Given the description of an element on the screen output the (x, y) to click on. 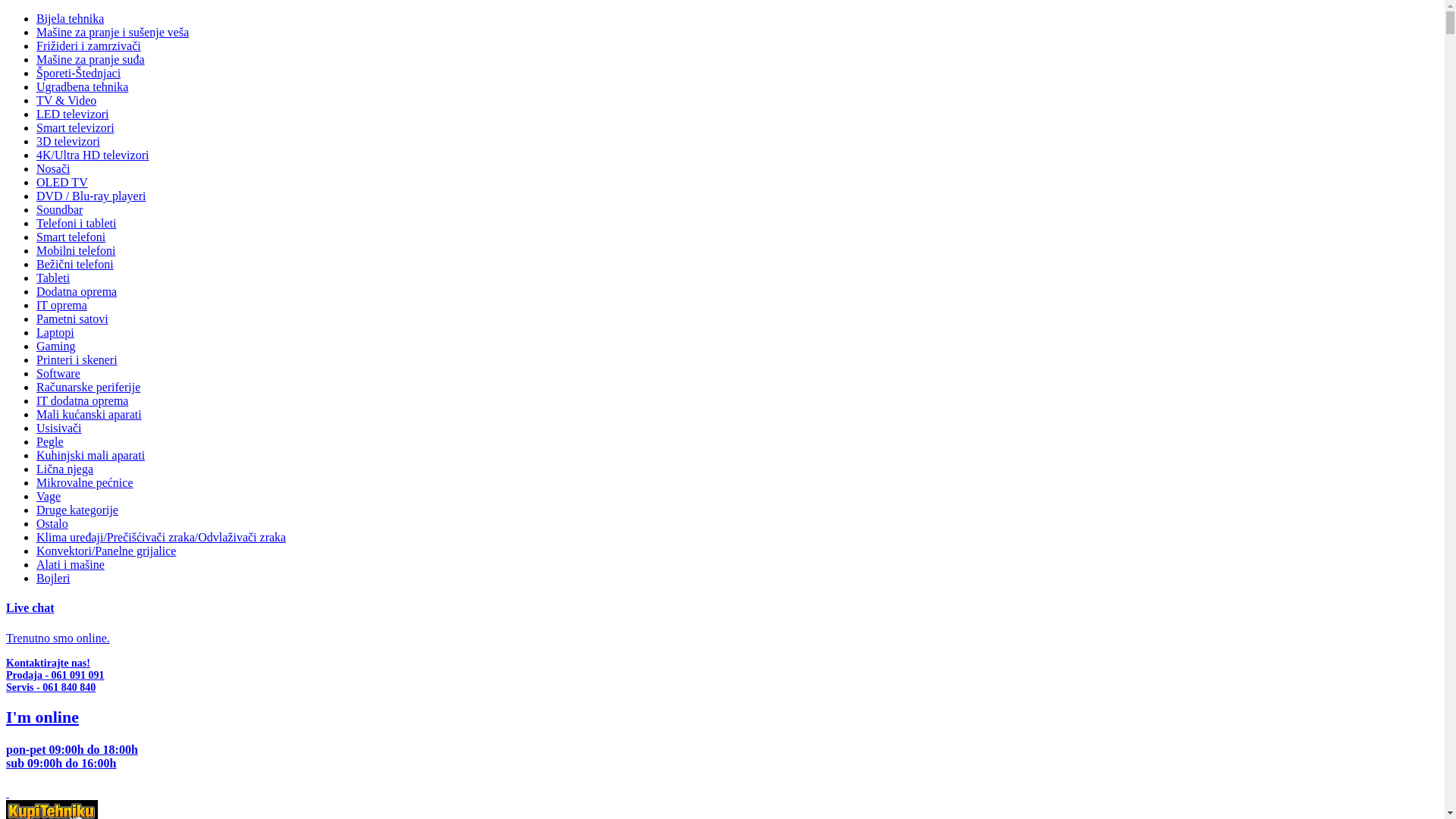
Bojleri Element type: text (52, 577)
Printeri i skeneri Element type: text (76, 359)
IT oprema Element type: text (61, 304)
Dodatna oprema Element type: text (76, 291)
Gaming Element type: text (55, 345)
Kuhinjski mali aparati Element type: text (90, 454)
LED televizori Element type: text (72, 113)
Laptopi Element type: text (55, 332)
Mobilni telefoni Element type: text (75, 250)
TV & Video Element type: text (66, 100)
DVD / Blu-ray playeri Element type: text (90, 195)
OLED TV Element type: text (61, 181)
Live chat
Trenutno smo online. Element type: text (722, 622)
IT dodatna oprema Element type: text (82, 400)
Vage Element type: text (48, 495)
Telefoni i tableti Element type: text (76, 222)
4K/Ultra HD televizori Element type: text (92, 154)
3D televizori Element type: text (68, 140)
Soundbar Element type: text (59, 209)
Software Element type: text (58, 373)
  Element type: text (7, 792)
Smart televizori Element type: text (75, 127)
Ugradbena tehnika Element type: text (82, 86)
Pegle Element type: text (49, 441)
Pametni satovi Element type: text (72, 318)
Tableti Element type: text (52, 277)
Ostalo Element type: text (52, 523)
Smart telefoni Element type: text (70, 236)
Druge kategorije Element type: text (77, 509)
Konvektori/Panelne grijalice Element type: text (105, 550)
Bijela tehnika Element type: text (69, 18)
